Given the description of an element on the screen output the (x, y) to click on. 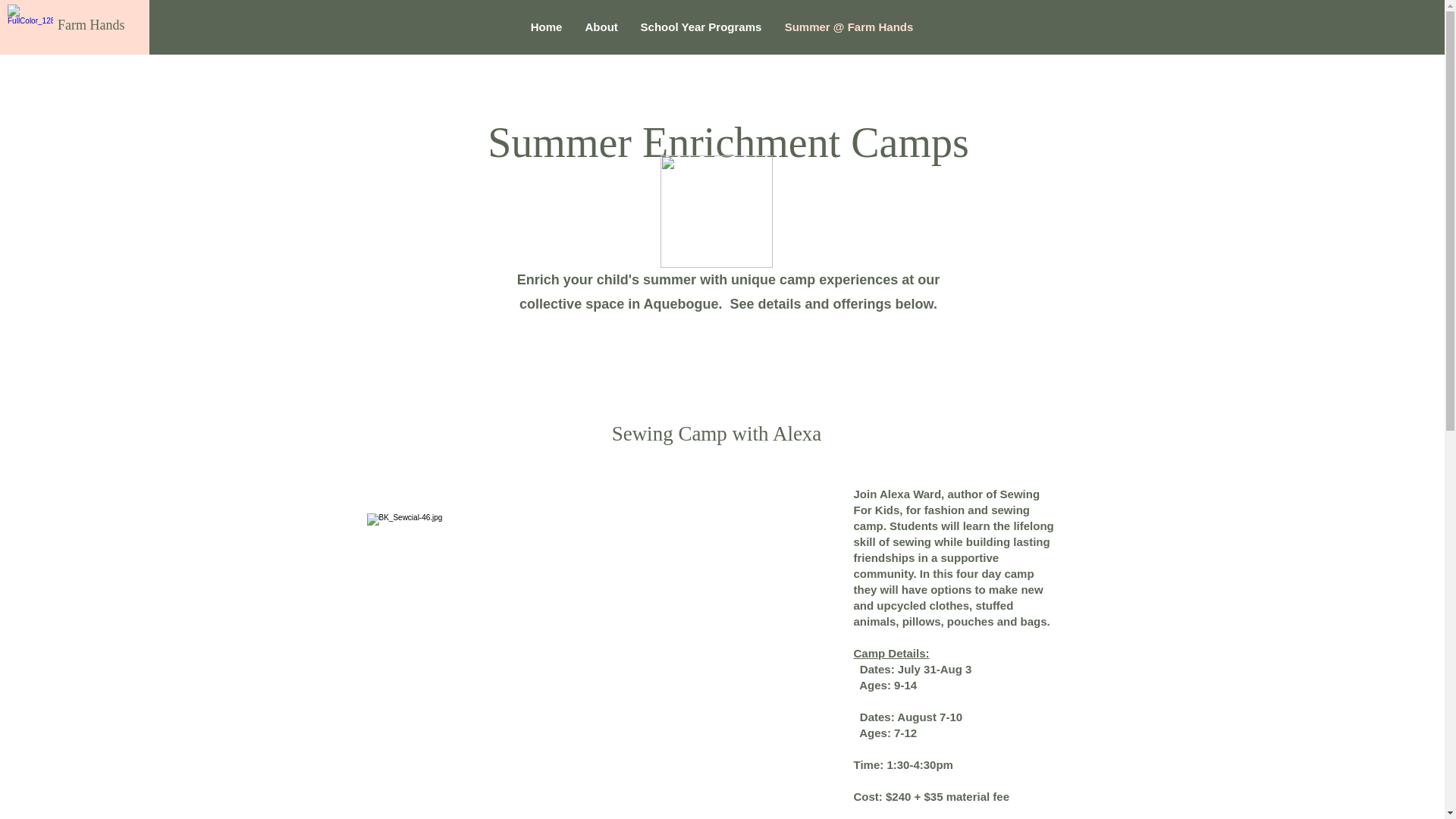
Home (545, 26)
Farm Hands (91, 24)
About (600, 26)
